Given the description of an element on the screen output the (x, y) to click on. 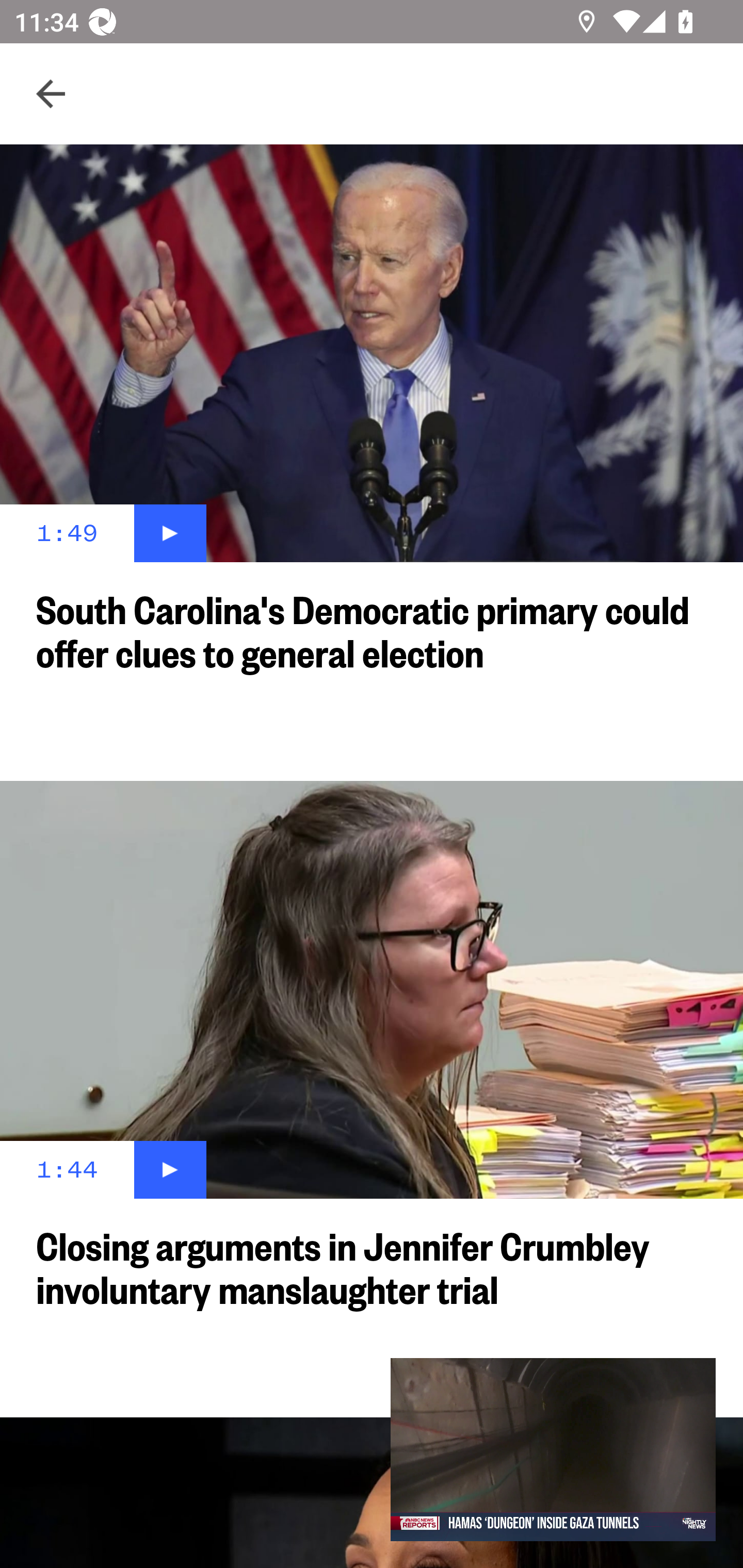
Navigate up (50, 93)
